Given the description of an element on the screen output the (x, y) to click on. 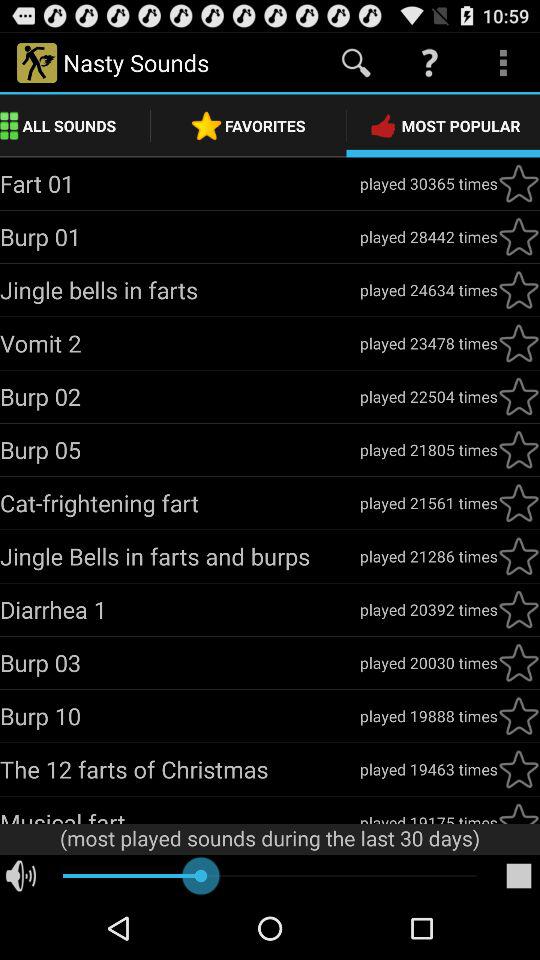
jump until played 23478 times icon (428, 343)
